Given the description of an element on the screen output the (x, y) to click on. 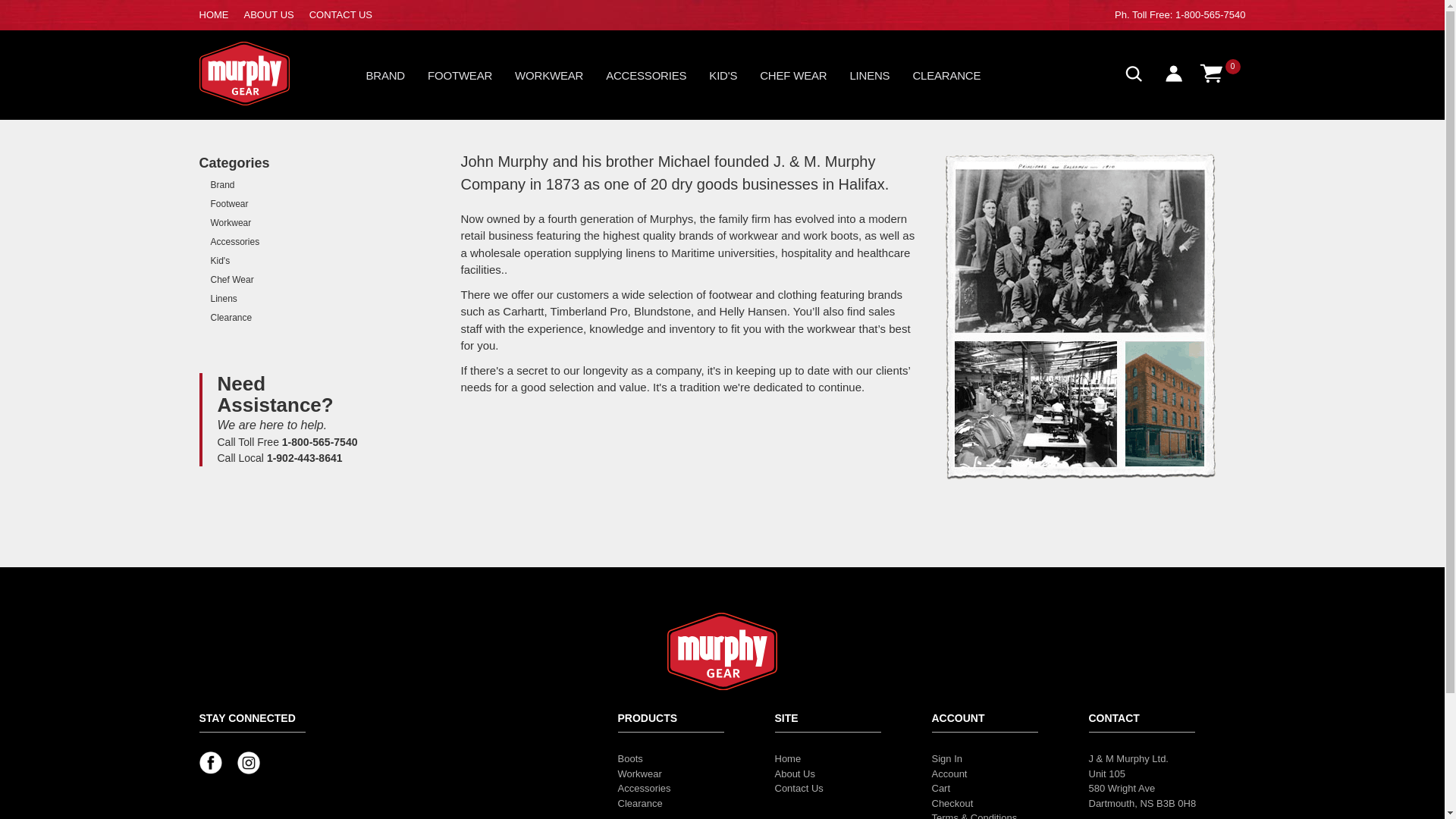
HOME (213, 14)
0 (1220, 70)
Toll Free: 1-800-565-7540 (1189, 14)
MURPHY GEAR (262, 72)
ABOUT US (269, 14)
CONTACT US (340, 14)
BRAND (396, 78)
